Given the description of an element on the screen output the (x, y) to click on. 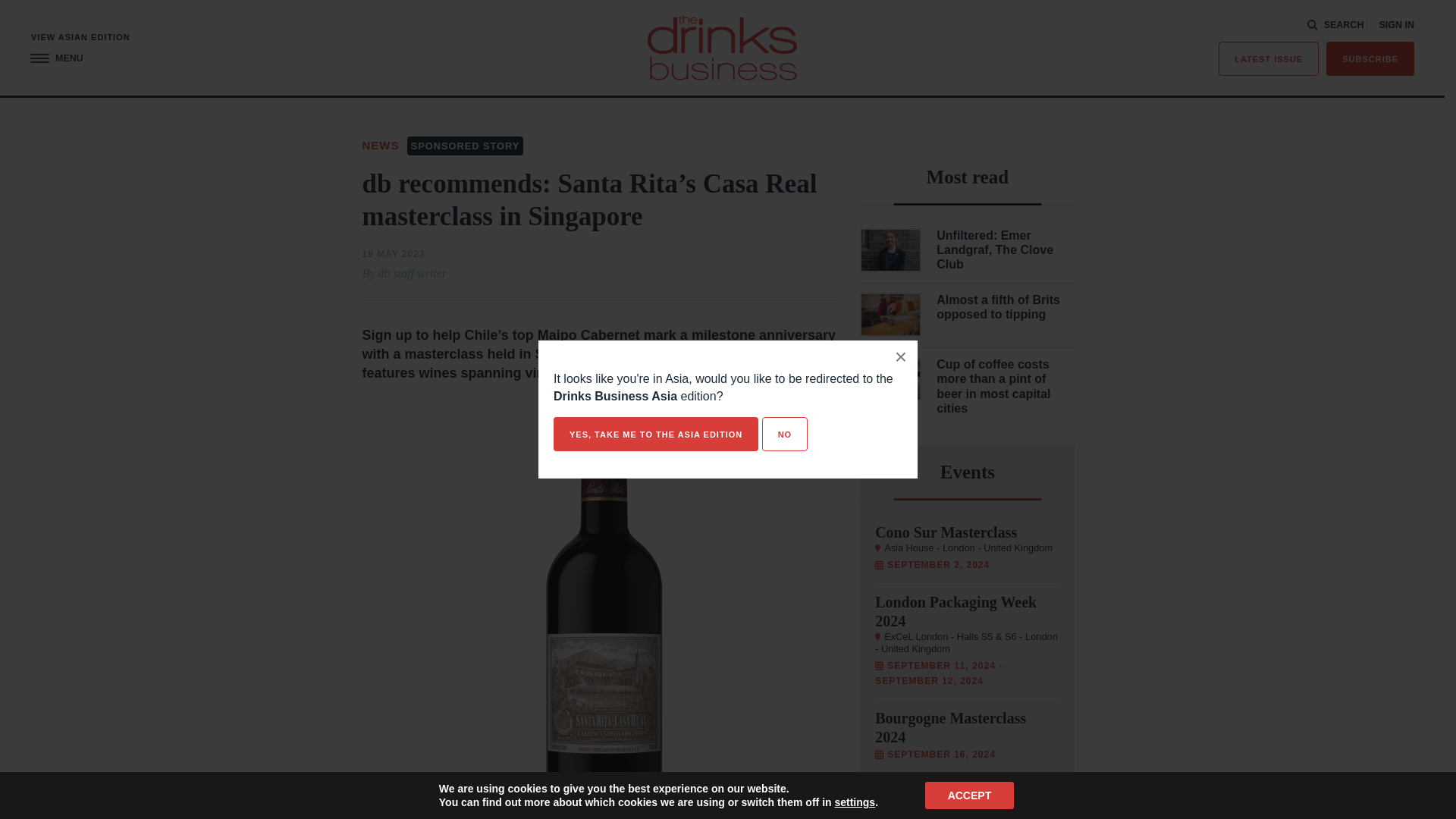
SIGN IN (1395, 25)
NO (784, 433)
The Drinks Business (721, 47)
YES, TAKE ME TO THE ASIA EDITION (655, 433)
LATEST ISSUE (1268, 58)
SUBSCRIBE (1369, 58)
VIEW ASIAN EDITION (80, 37)
